Given the description of an element on the screen output the (x, y) to click on. 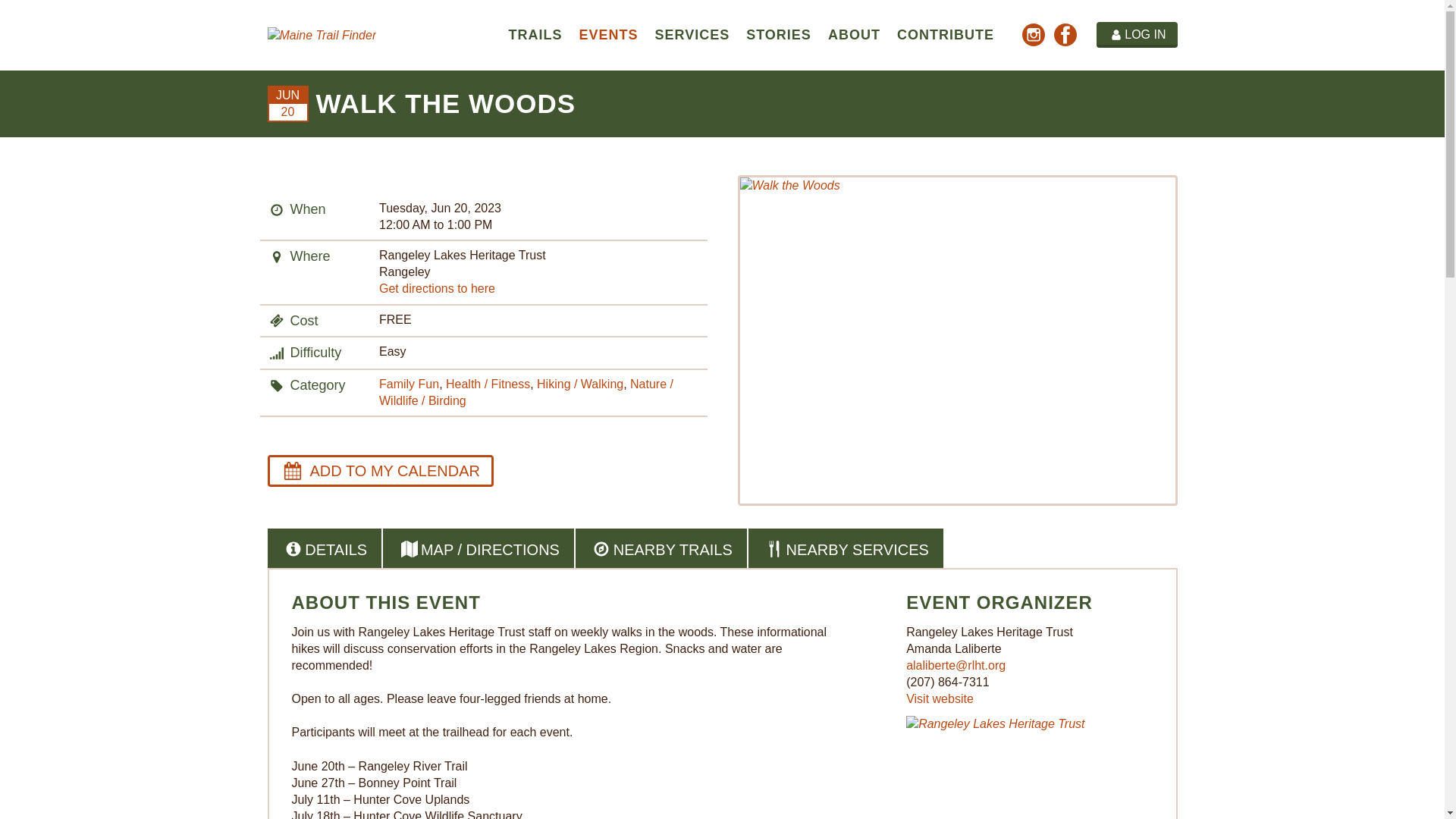
Family Fun (408, 383)
CONTRIBUTE (945, 34)
SERVICES (692, 34)
TRAILS (534, 34)
Follow us on Instagram (1033, 37)
STORIES (778, 34)
ABOUT (853, 34)
LOG IN (1136, 34)
EVENTS (608, 34)
Add to Calendar (379, 470)
DETAILS (323, 548)
Get directions to here (436, 287)
Follow us on Facebook (1065, 37)
